Given the description of an element on the screen output the (x, y) to click on. 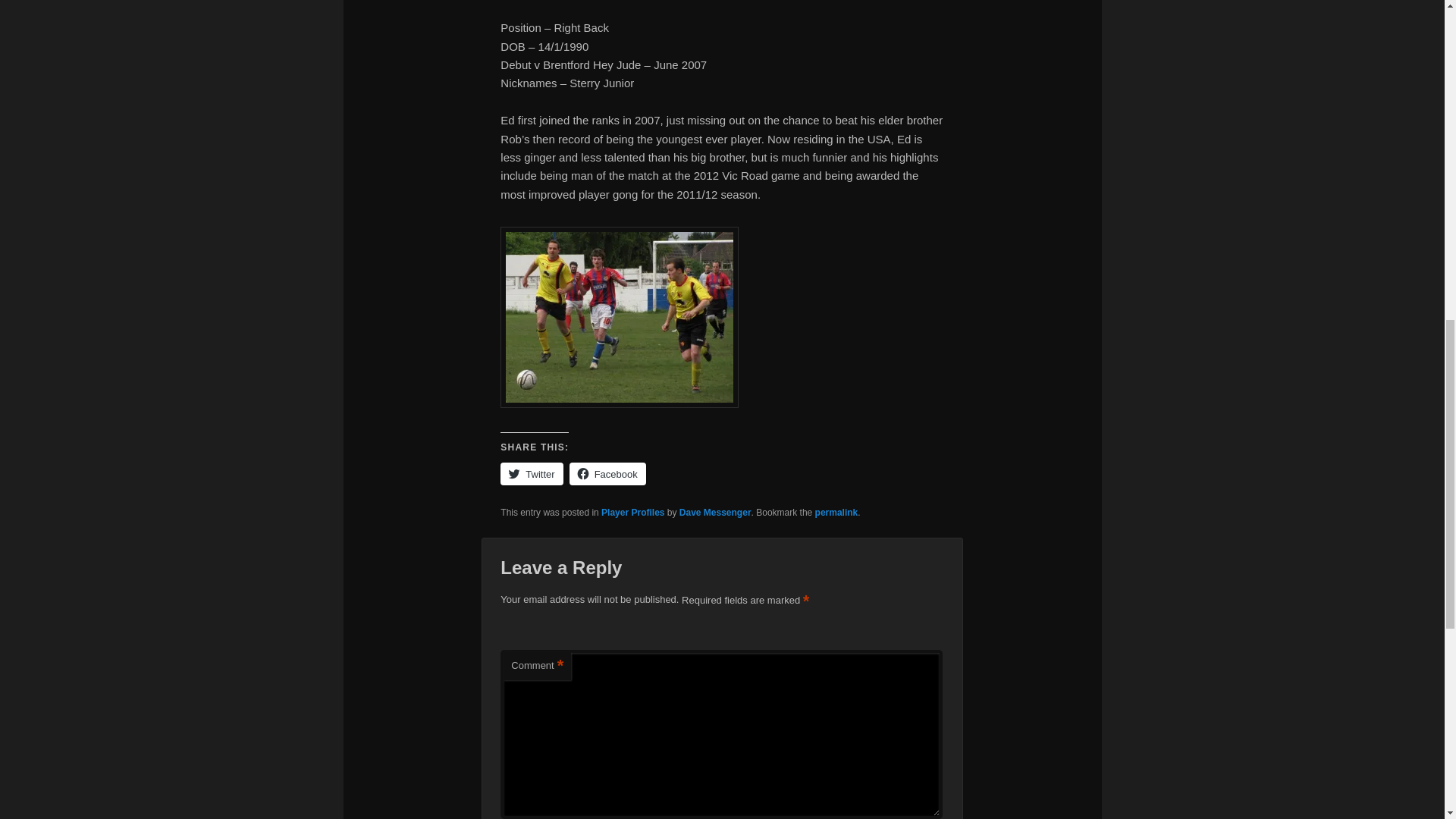
Facebook (607, 473)
Player Profiles (632, 511)
Click to share on Twitter (531, 473)
Dave Messenger (715, 511)
Twitter (531, 473)
permalink (837, 511)
Click to share on Facebook (607, 473)
